Given the description of an element on the screen output the (x, y) to click on. 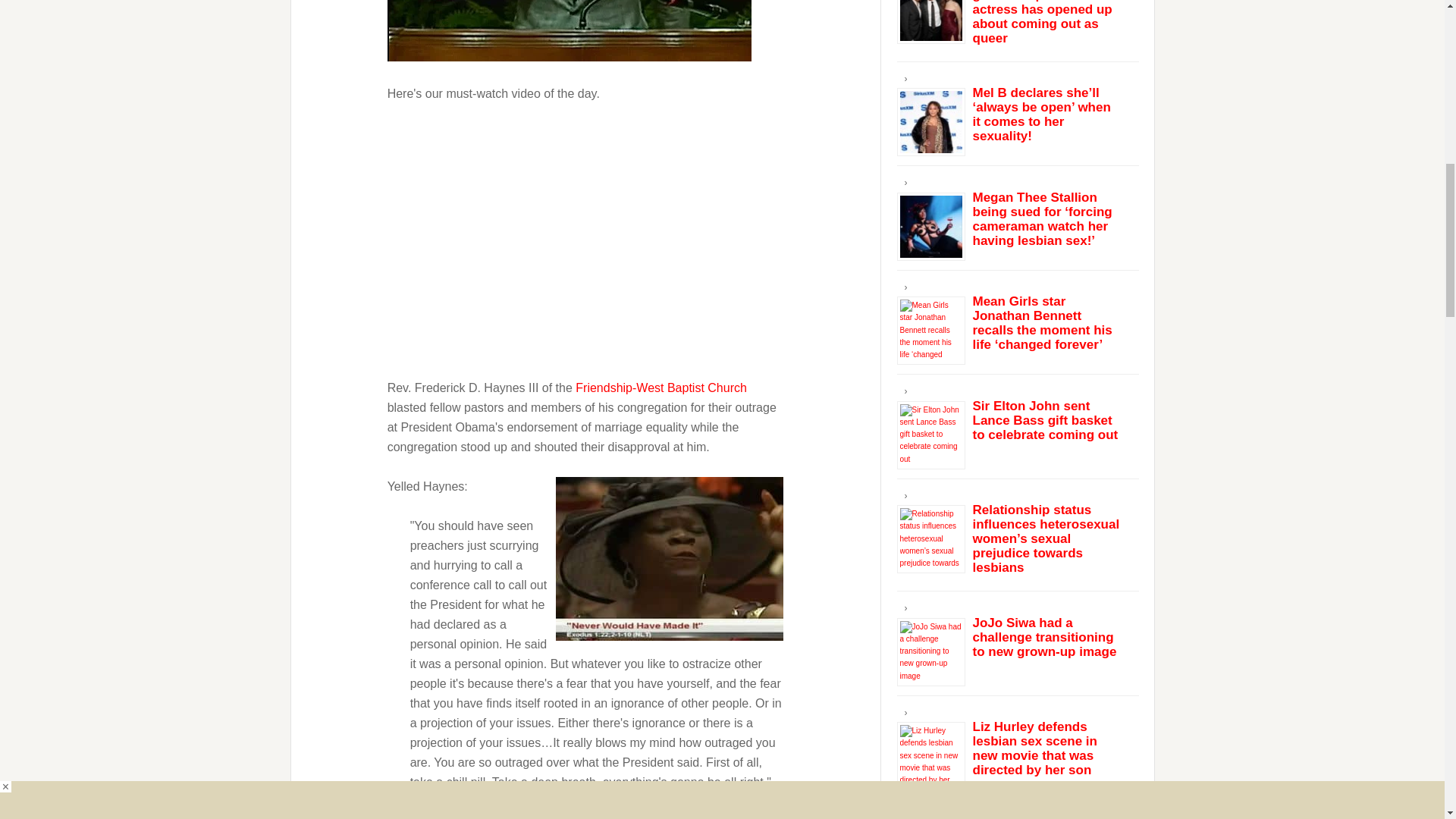
Haynes (569, 30)
Congregant (669, 557)
Friendship-West Baptist Church (660, 386)
